Given the description of an element on the screen output the (x, y) to click on. 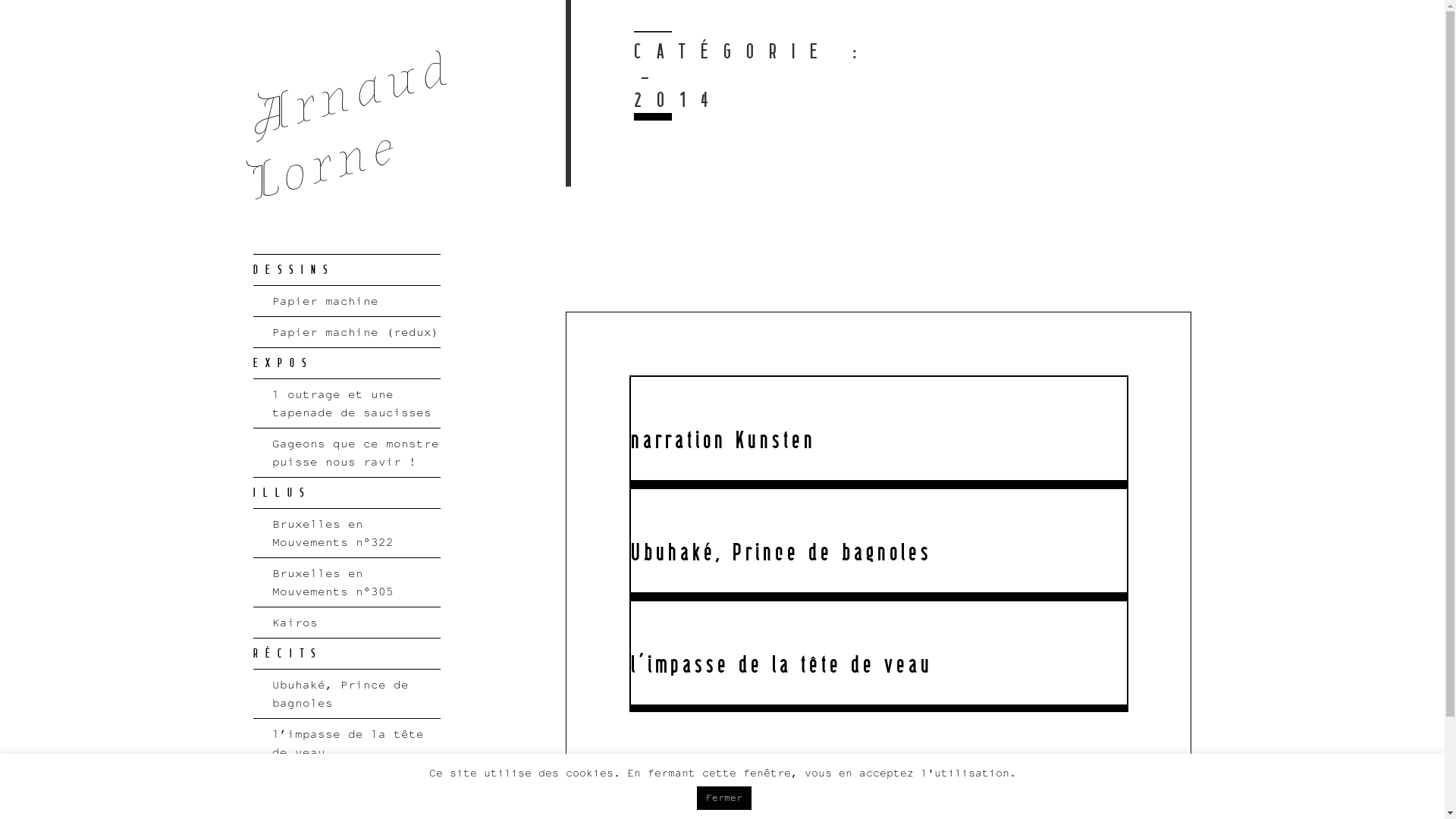
Papier machine (redux) Element type: text (347, 331)
Arnaud Lorne Element type: text (353, 97)
Gageons que ce monstre puisse nous ravir ! Element type: text (347, 452)
ILLUS Element type: text (347, 492)
1 outrage et une tapenade de saucisses Element type: text (347, 403)
Fermer Element type: text (723, 797)
narration Kunsten Element type: text (722, 440)
Papier machine Element type: text (347, 300)
( I ) Element type: text (347, 783)
EXPOS Element type: text (347, 363)
DESSINS Element type: text (347, 269)
Kairos Element type: text (347, 622)
